Given the description of an element on the screen output the (x, y) to click on. 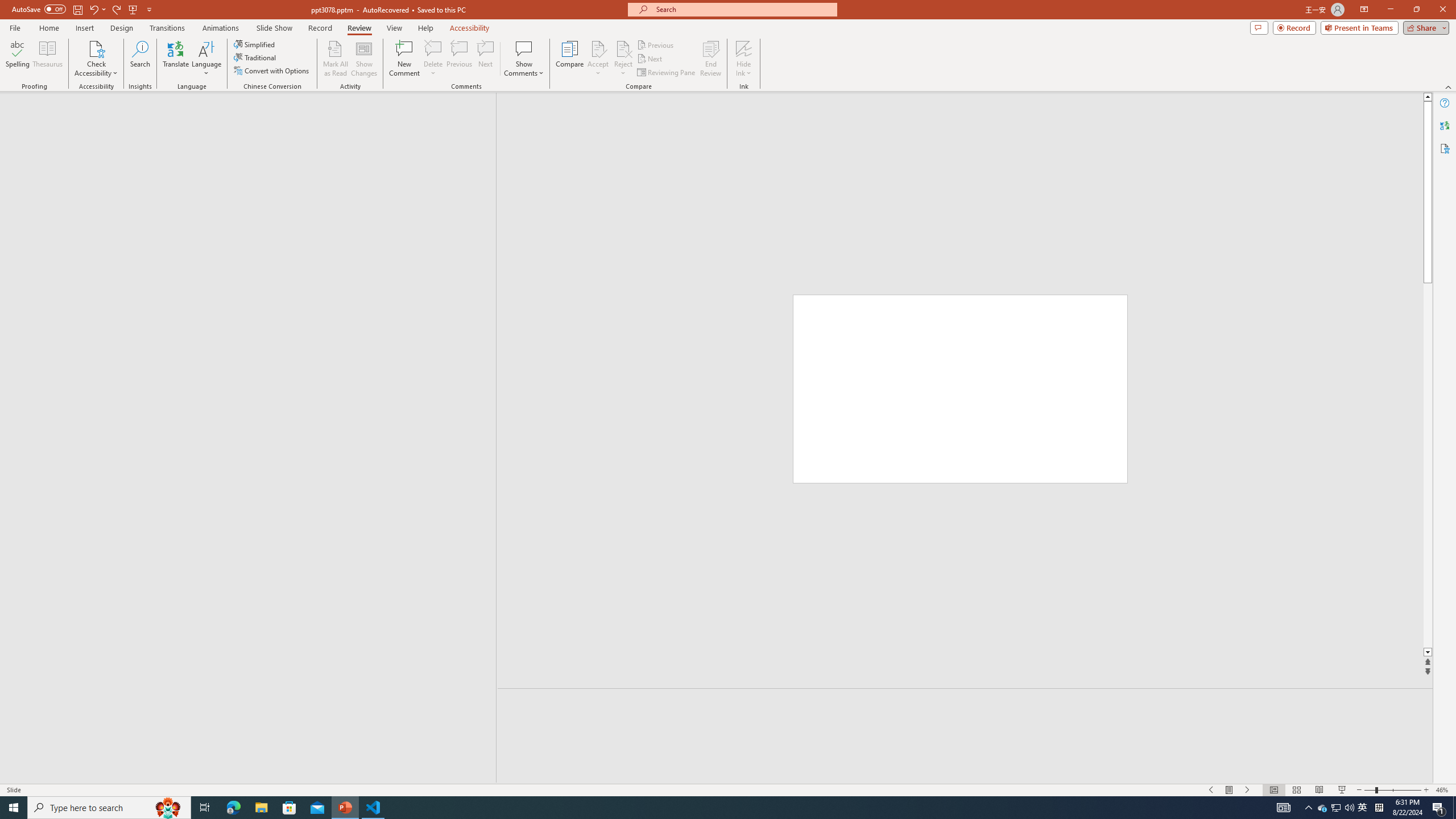
Translator (1444, 125)
Accept (598, 58)
Slide Show Next On (1247, 790)
Translate (175, 58)
Show Comments (524, 58)
